Given the description of an element on the screen output the (x, y) to click on. 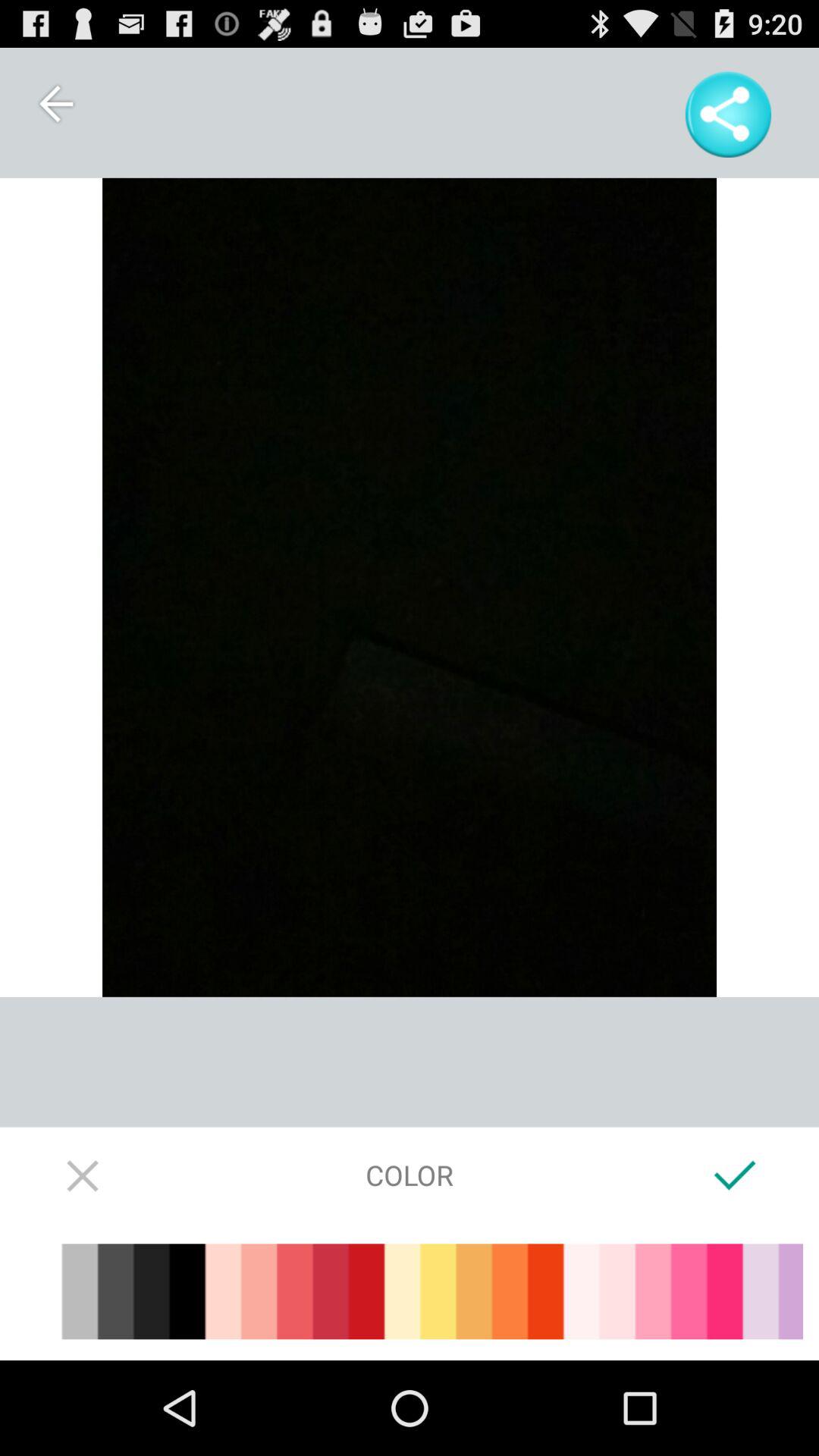
open the icon to the left of color icon (83, 1174)
